Given the description of an element on the screen output the (x, y) to click on. 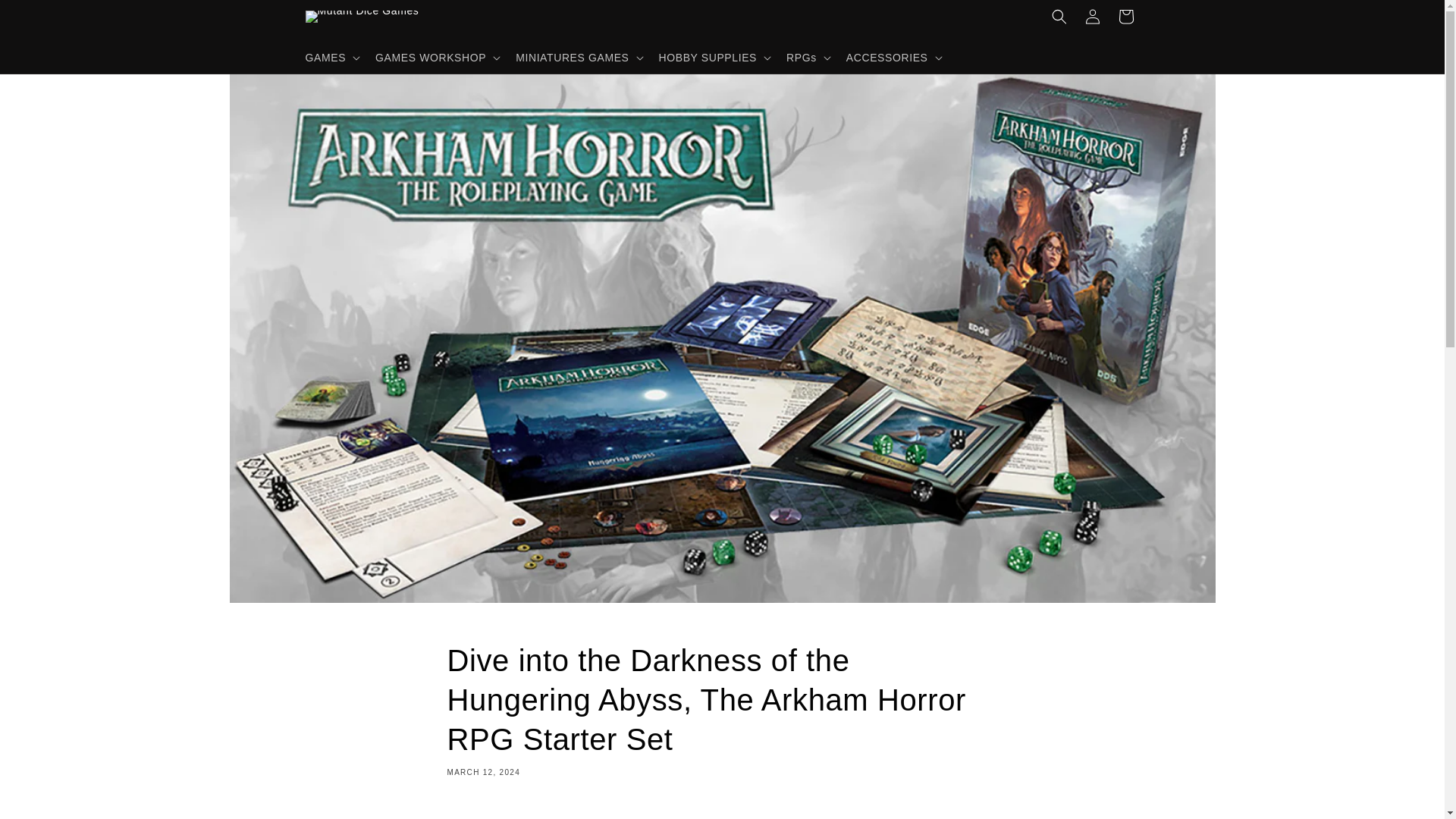
Skip to content (45, 17)
